Given the description of an element on the screen output the (x, y) to click on. 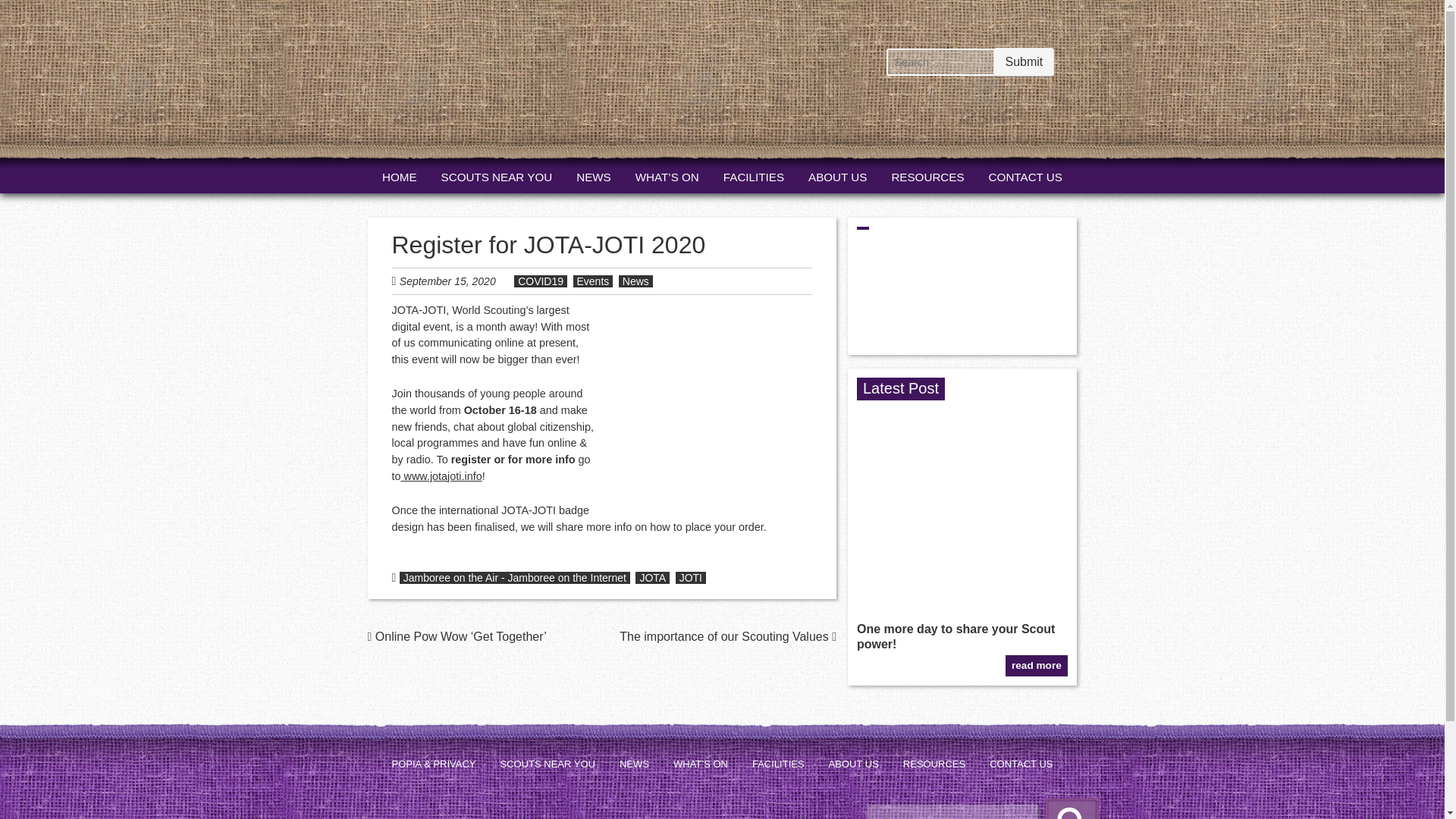
SCOUTS NEAR YOU (497, 177)
read more (1036, 665)
Skip to content (409, 177)
ABOUT US (853, 764)
NEWS (634, 764)
SCOUTS NEAR YOU (547, 764)
4 - Northern Cape Scouts (962, 493)
Jamboree on the Air - Jamboree on the Internet (514, 577)
Latest article (962, 594)
CONTACT US (1021, 764)
Northern Cape Scouts (457, 101)
JOTA (651, 577)
Events (592, 281)
Scouts Shop (813, 111)
Submit (1023, 61)
